Given the description of an element on the screen output the (x, y) to click on. 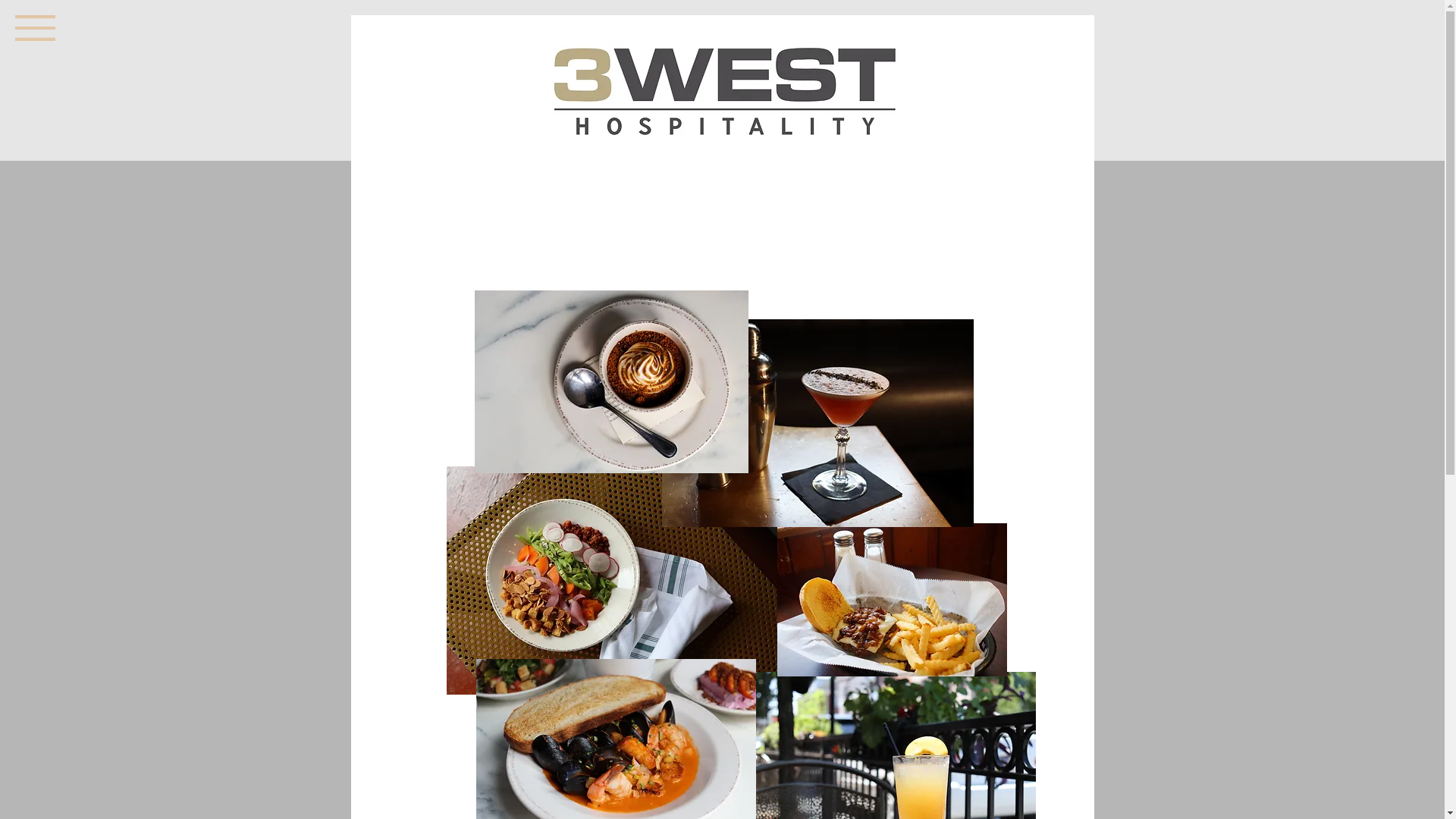
IMG_0363.jpg Element type: hover (611, 381)
3west_final_specs.jpg Element type: hover (727, 92)
IMG_0039.jpg Element type: hover (616, 580)
IMG_0095.jpg Element type: hover (816, 423)
IMG_0230.jpg Element type: hover (891, 599)
